Given the description of an element on the screen output the (x, y) to click on. 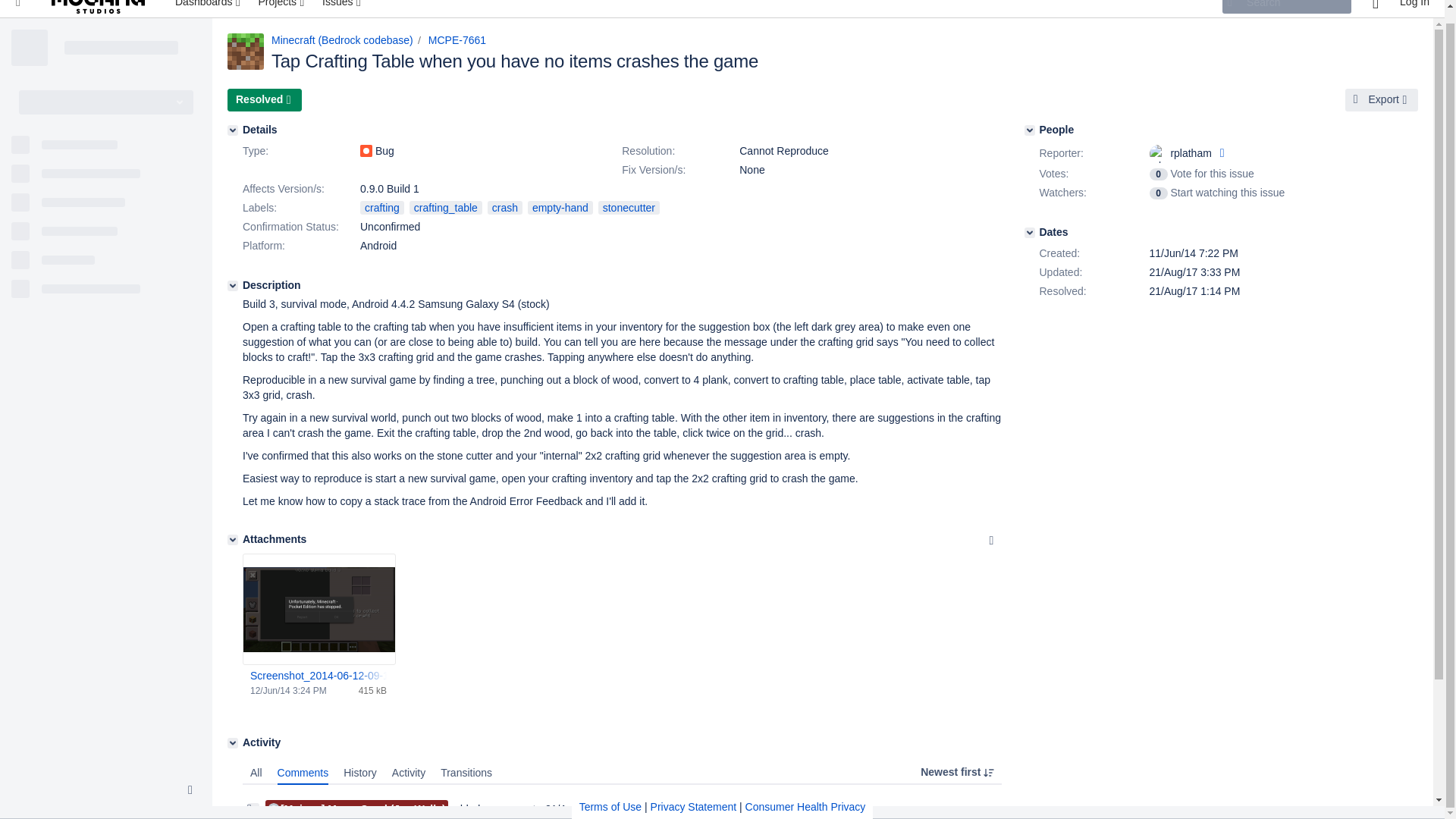
Options (991, 540)
Attachments (232, 539)
stonecutter (628, 207)
Linked Applications (18, 8)
Type (299, 151)
Export (1381, 99)
Issues (342, 8)
Terms of Use (610, 793)
Privacy Statement (693, 793)
crash (504, 207)
